Given the description of an element on the screen output the (x, y) to click on. 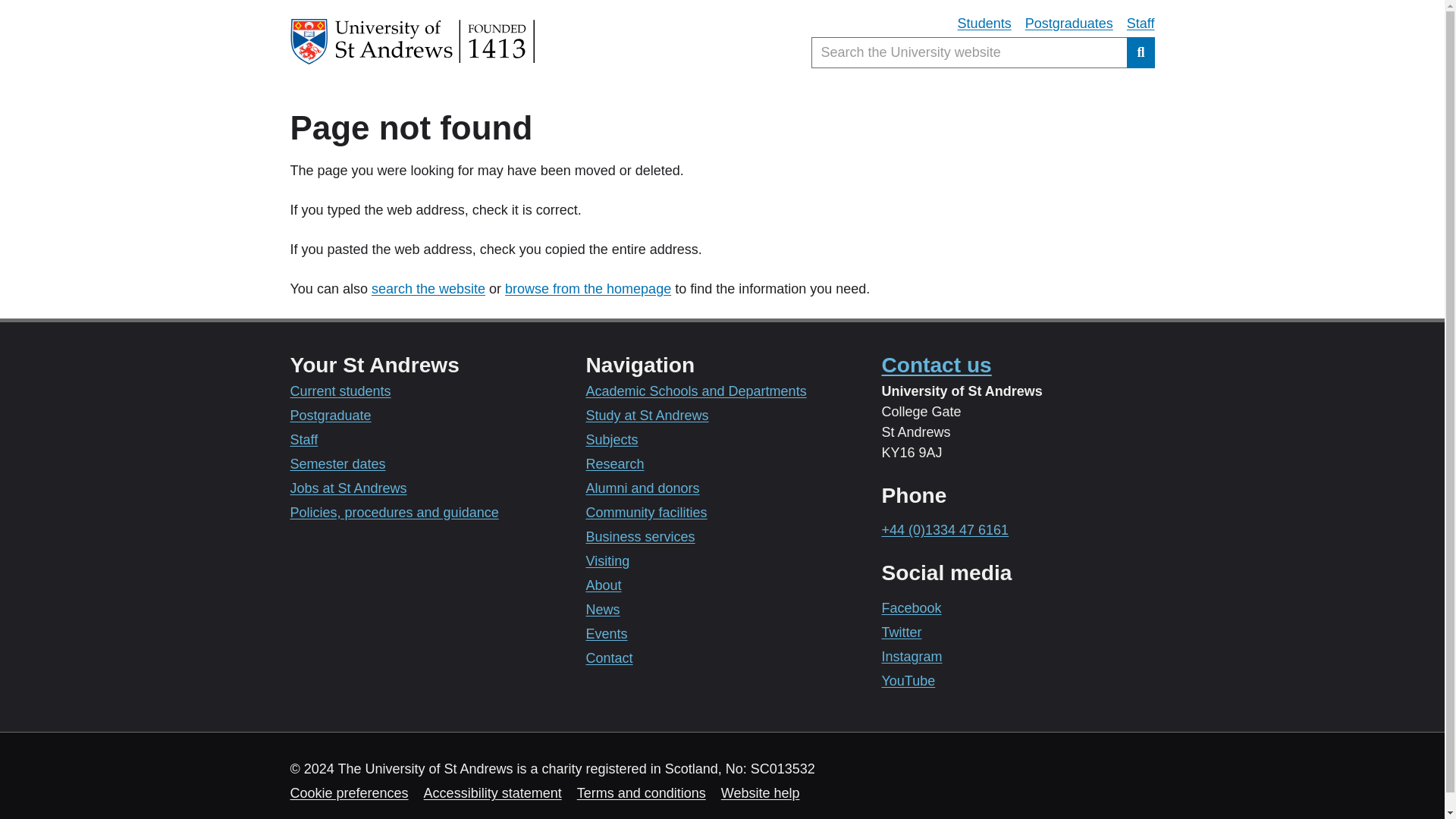
s (374, 288)
Current students (339, 391)
Staff (1140, 23)
News (602, 609)
About (603, 585)
earch the website (431, 288)
Cookie preferences (348, 792)
Business services (639, 536)
Postgraduates (1069, 23)
Events (606, 633)
Alumni and donors (641, 488)
Submit (1140, 51)
Community facilities (645, 512)
Academic Schools and Departments (695, 391)
Facebook (910, 607)
